Given the description of an element on the screen output the (x, y) to click on. 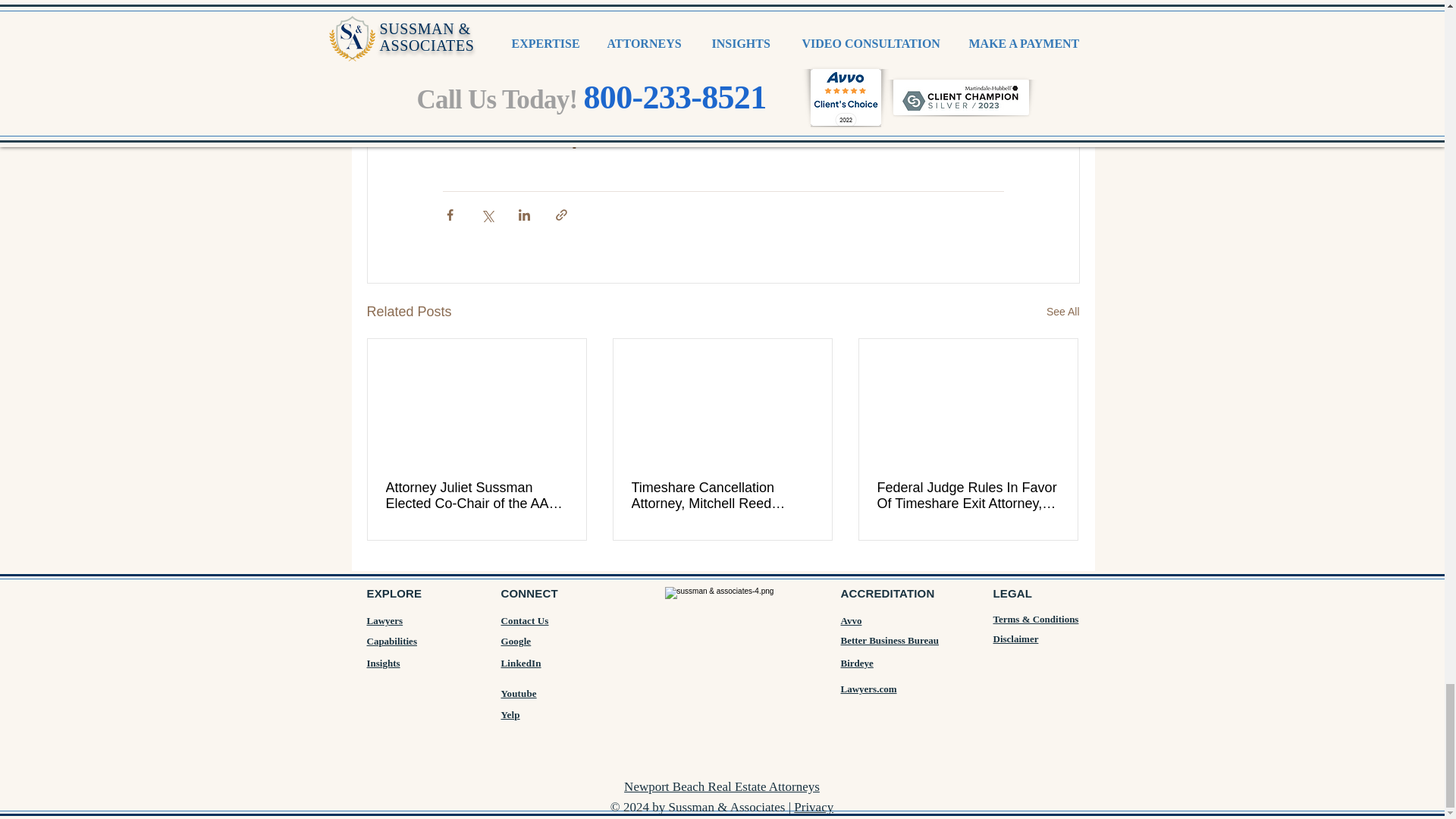
See All (1063, 311)
